Given the description of an element on the screen output the (x, y) to click on. 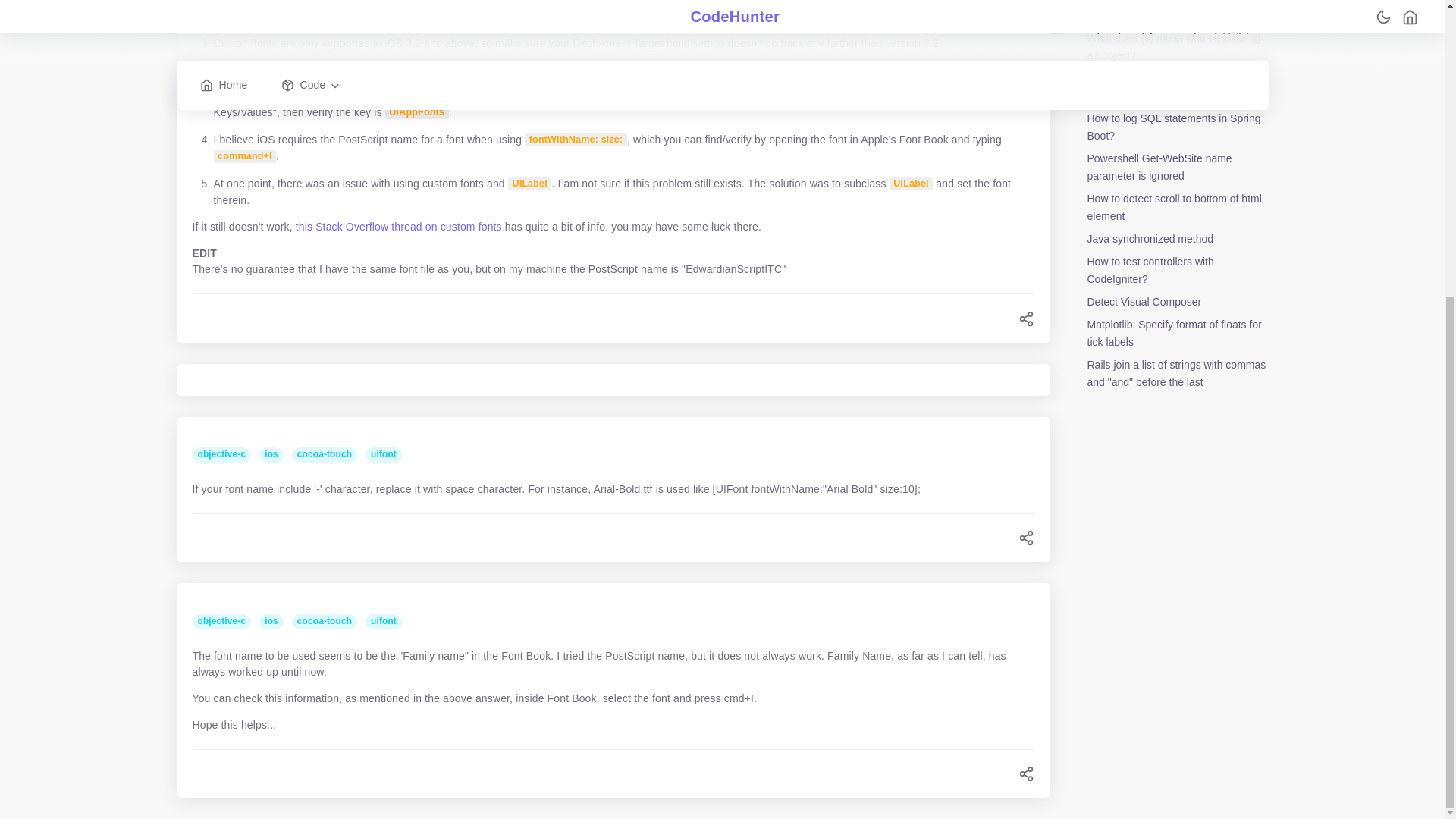
cocoa-touch (328, 453)
this Stack Overflow thread on custom fonts (398, 226)
ios (275, 453)
objective-c (226, 620)
objective-c (226, 453)
ios (275, 620)
uifont (386, 453)
